Given the description of an element on the screen output the (x, y) to click on. 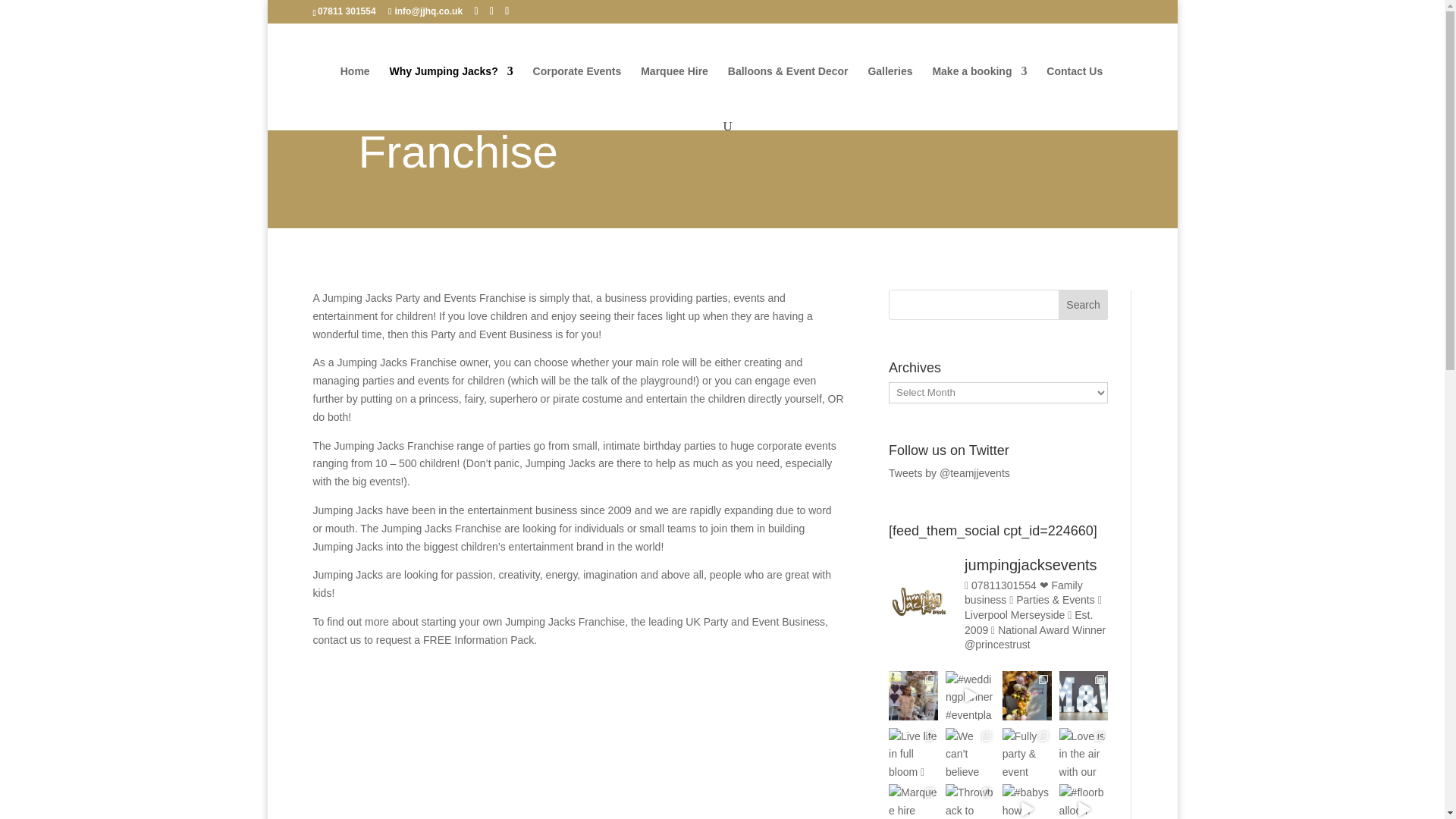
07811 301554 (346, 10)
Search (1083, 304)
Contact Us (1074, 92)
Why Jumping Jacks? (451, 92)
Make a booking (978, 92)
Marquee Hire (673, 92)
Corporate Events (576, 92)
